Given the description of an element on the screen output the (x, y) to click on. 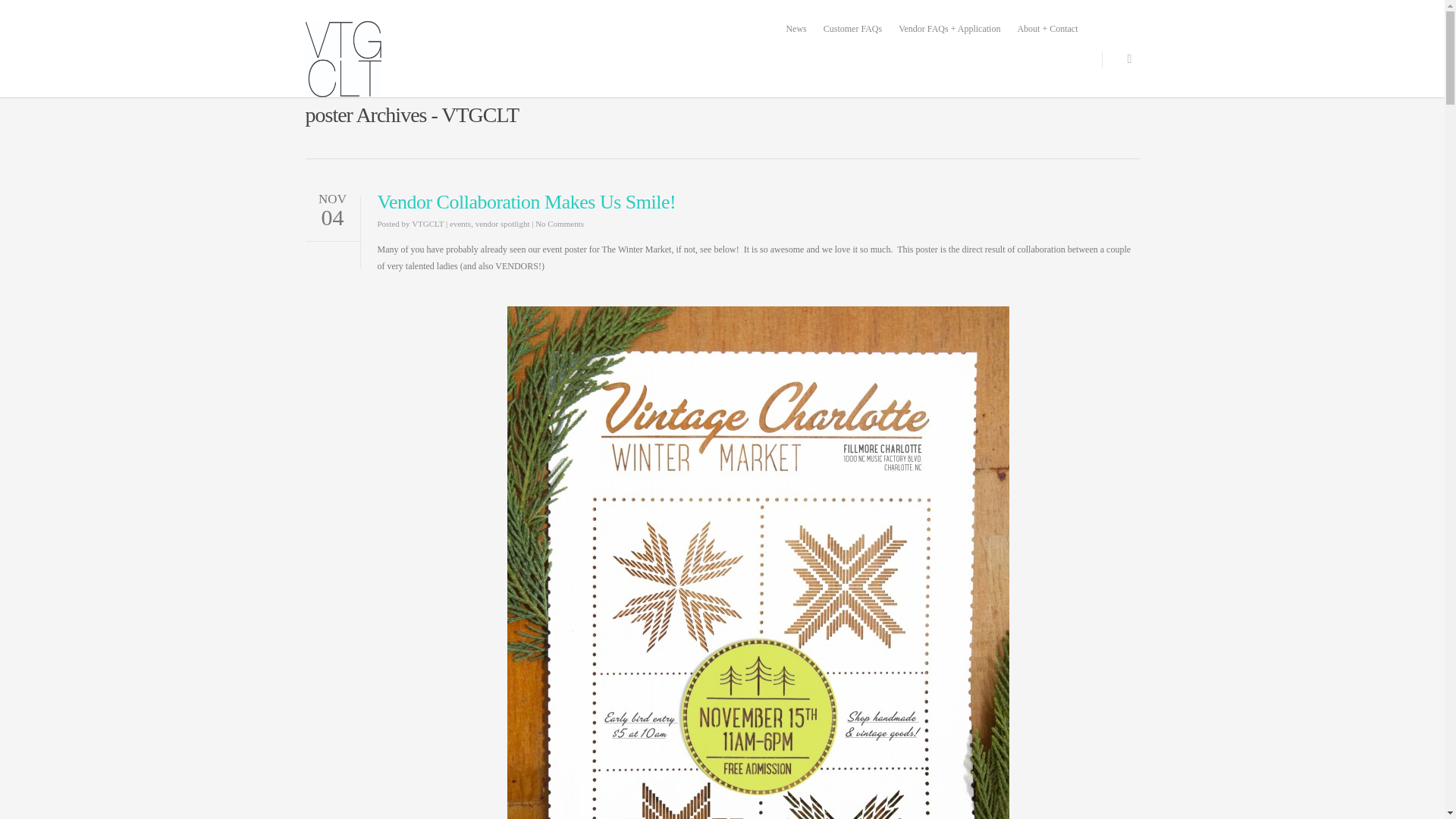
Posts by VTGCLT (428, 223)
Customer FAQs (852, 28)
events (459, 223)
VTGCLT (428, 223)
Vendor Collaboration Makes Us Smile! (527, 201)
News (795, 28)
vendor spotlight (502, 223)
No Comments (559, 223)
